Given the description of an element on the screen output the (x, y) to click on. 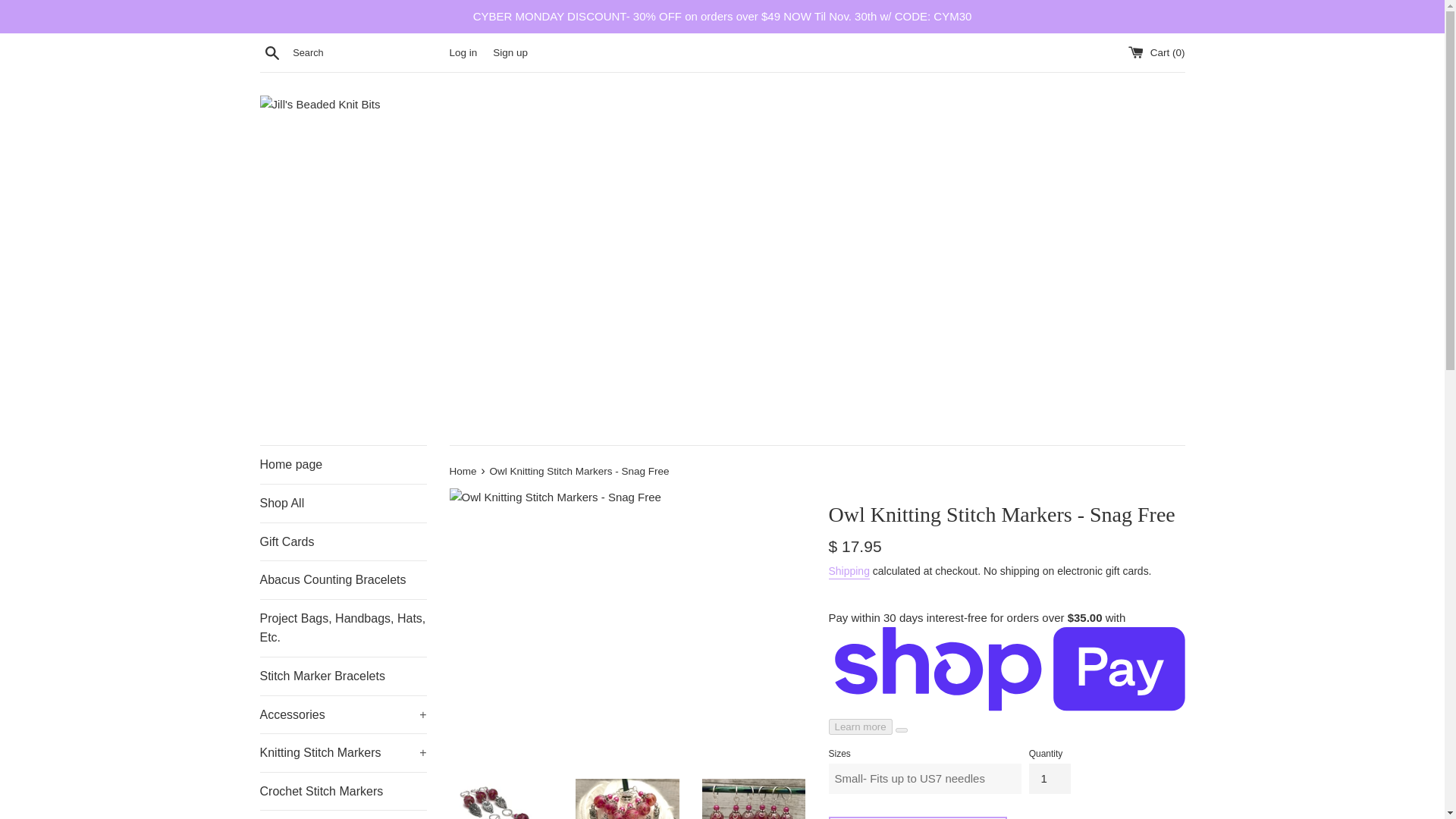
Home page (342, 464)
Letter Stitch Markers (342, 814)
Gift Cards (342, 542)
Stitch Marker Bracelets (342, 676)
Search (271, 52)
Back to the frontpage (463, 471)
Project Bags, Handbags, Hats, Etc. (342, 627)
Shop All (342, 503)
Abacus Counting Bracelets (342, 579)
1 (1049, 778)
